Given the description of an element on the screen output the (x, y) to click on. 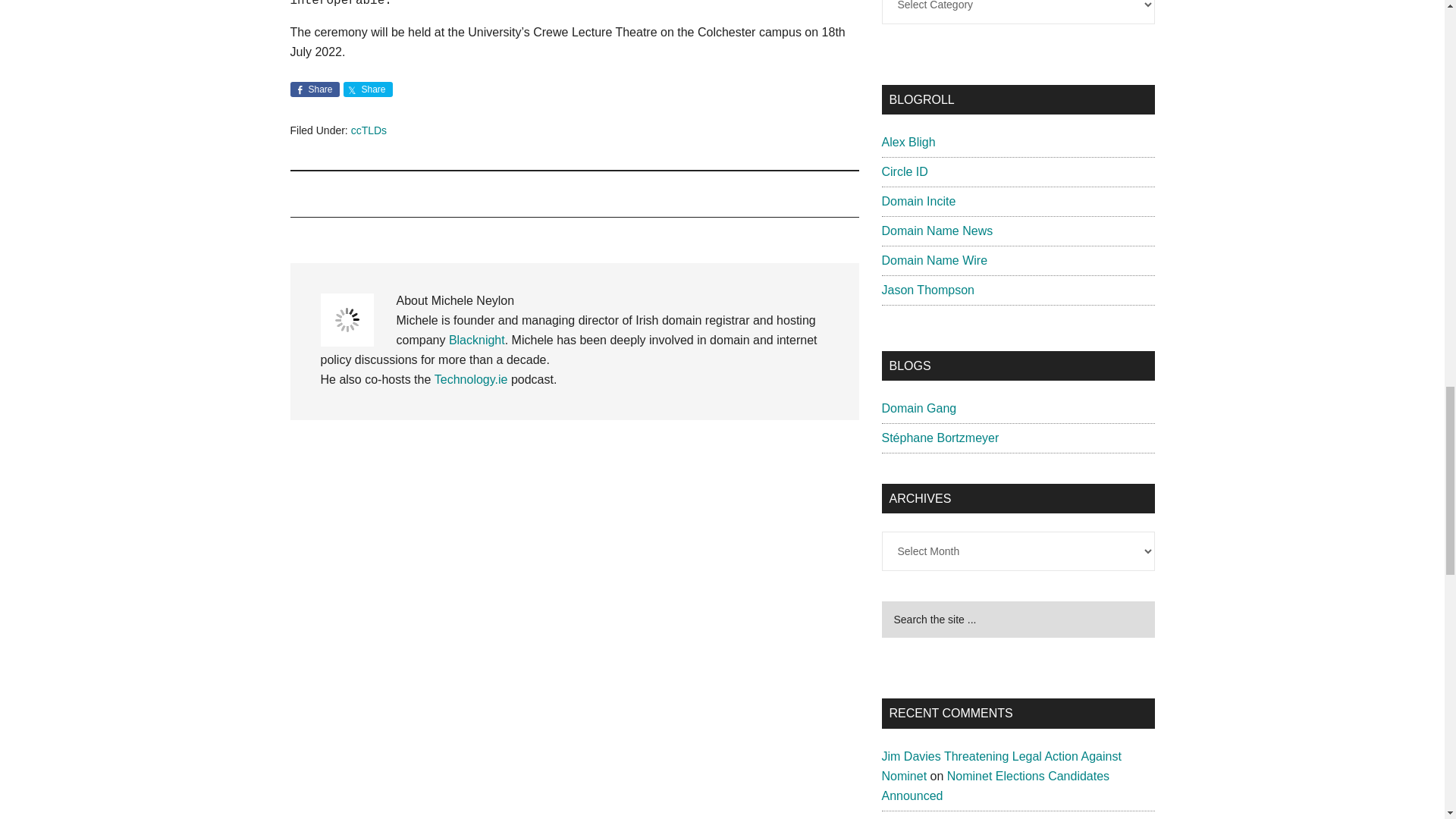
Share (366, 89)
ccTLDs (368, 130)
Technology.ie (470, 379)
Share (314, 89)
Blacknight (476, 339)
Domain news and humour (918, 408)
Jason Thompson (927, 289)
